Given the description of an element on the screen output the (x, y) to click on. 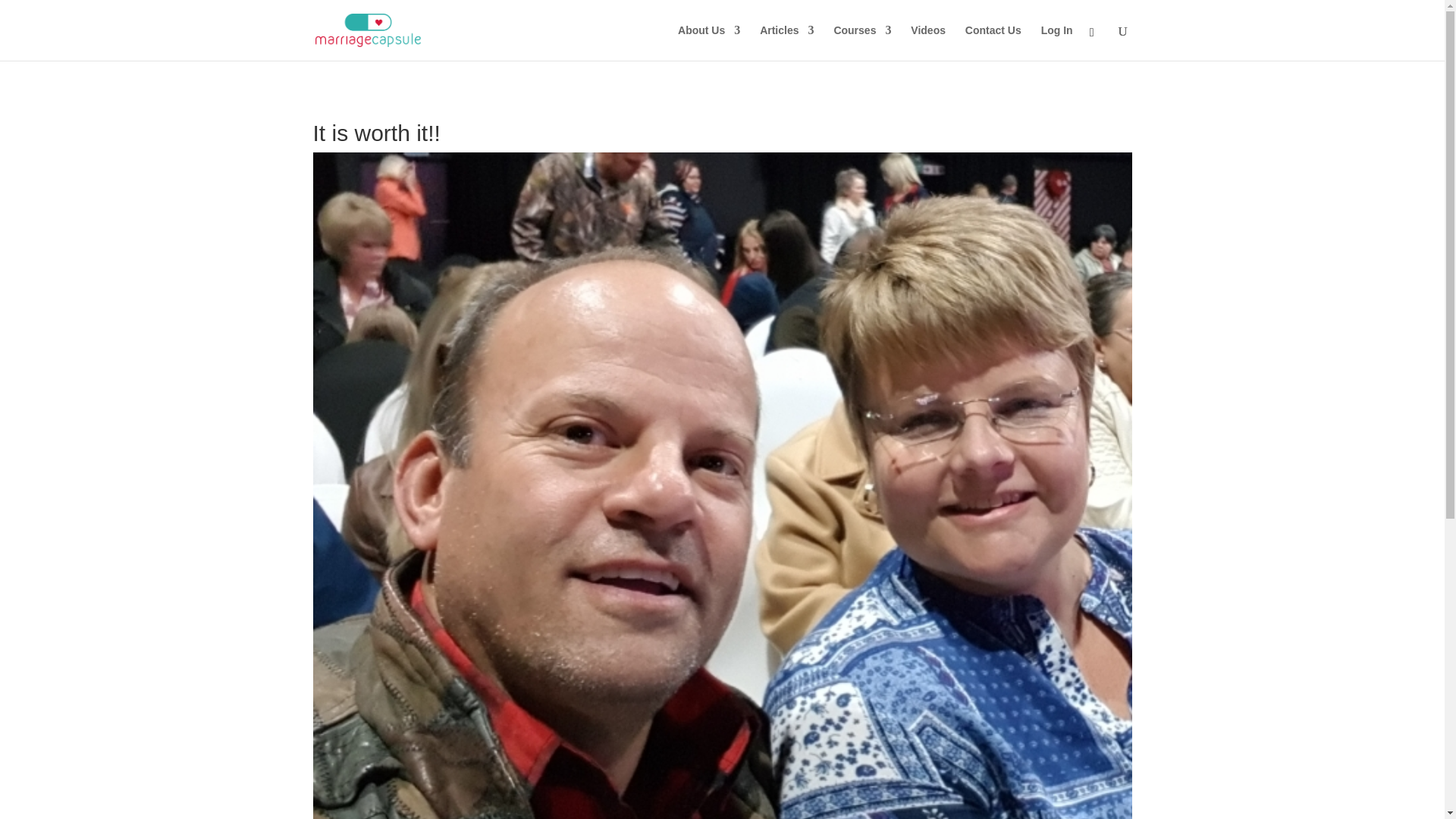
Videos (927, 42)
Articles (786, 42)
About Us (708, 42)
Courses (861, 42)
Log In (1057, 42)
Contact Us (993, 42)
